Given the description of an element on the screen output the (x, y) to click on. 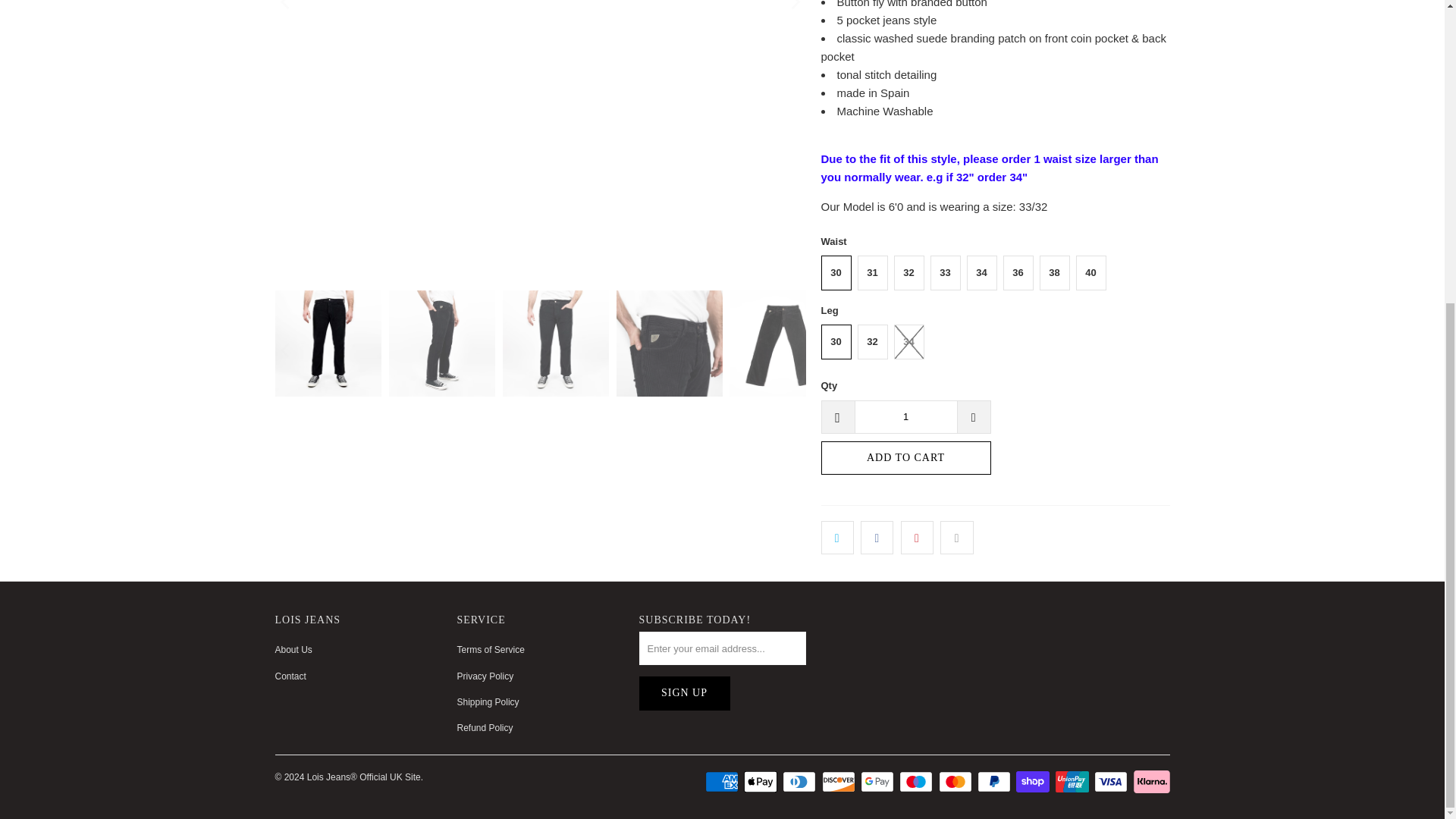
PayPal (994, 781)
Mastercard (957, 781)
Shop Pay (1034, 781)
Email this to a friend (956, 537)
Sign Up (684, 693)
Discover (840, 781)
Diners Club (800, 781)
Klarna (1150, 781)
American Express (722, 781)
Apple Pay (762, 781)
